Given the description of an element on the screen output the (x, y) to click on. 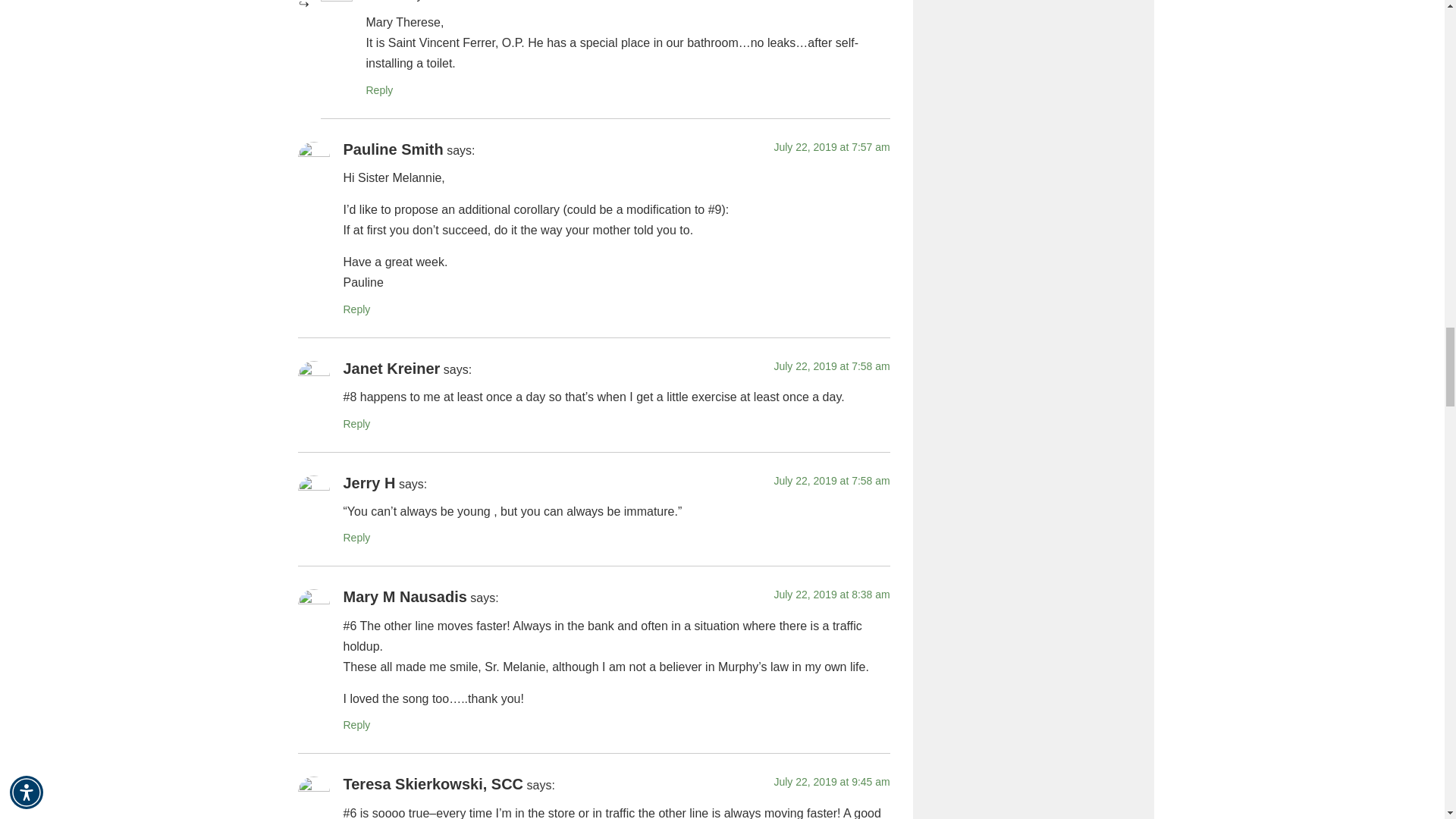
Reply (355, 309)
July 22, 2019 at 7:57 am (831, 146)
Reply (379, 90)
